Given the description of an element on the screen output the (x, y) to click on. 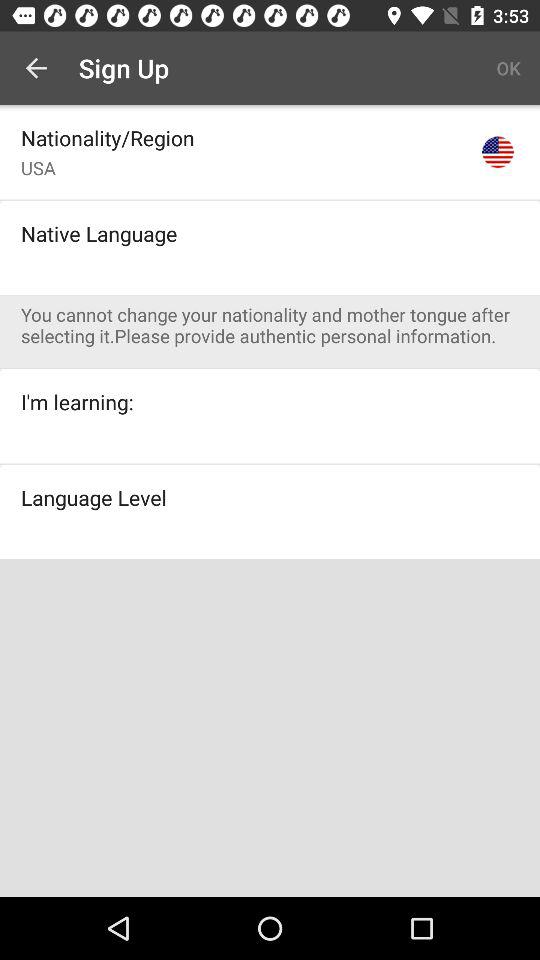
press icon above the i'm learning: item (280, 325)
